Given the description of an element on the screen output the (x, y) to click on. 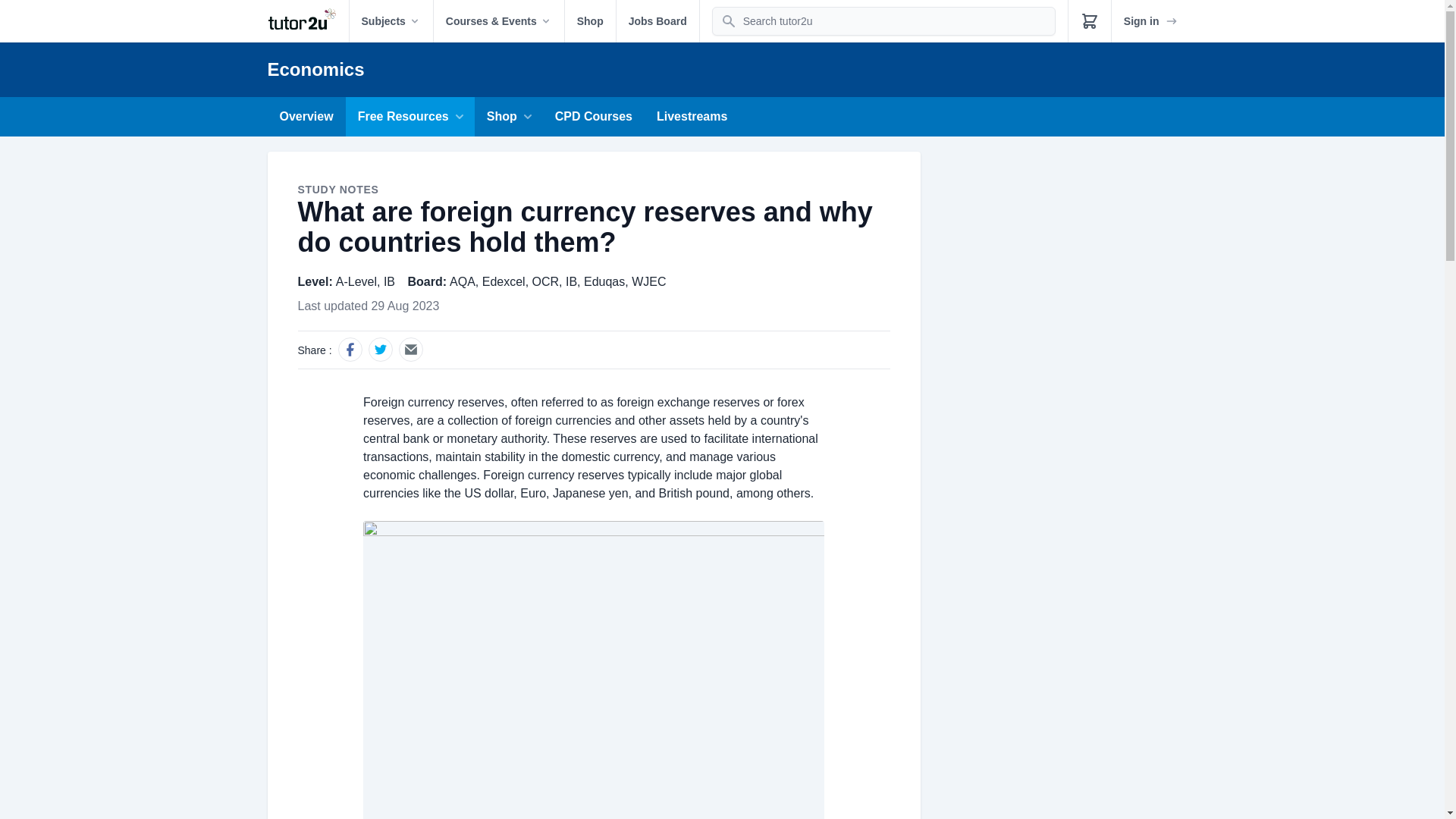
tutor2u (306, 21)
Jobs Board (656, 21)
Overview (305, 116)
Subjects (390, 21)
Shop (589, 21)
Free Resources (410, 116)
Economics (315, 68)
Sign in (1150, 21)
